Given the description of an element on the screen output the (x, y) to click on. 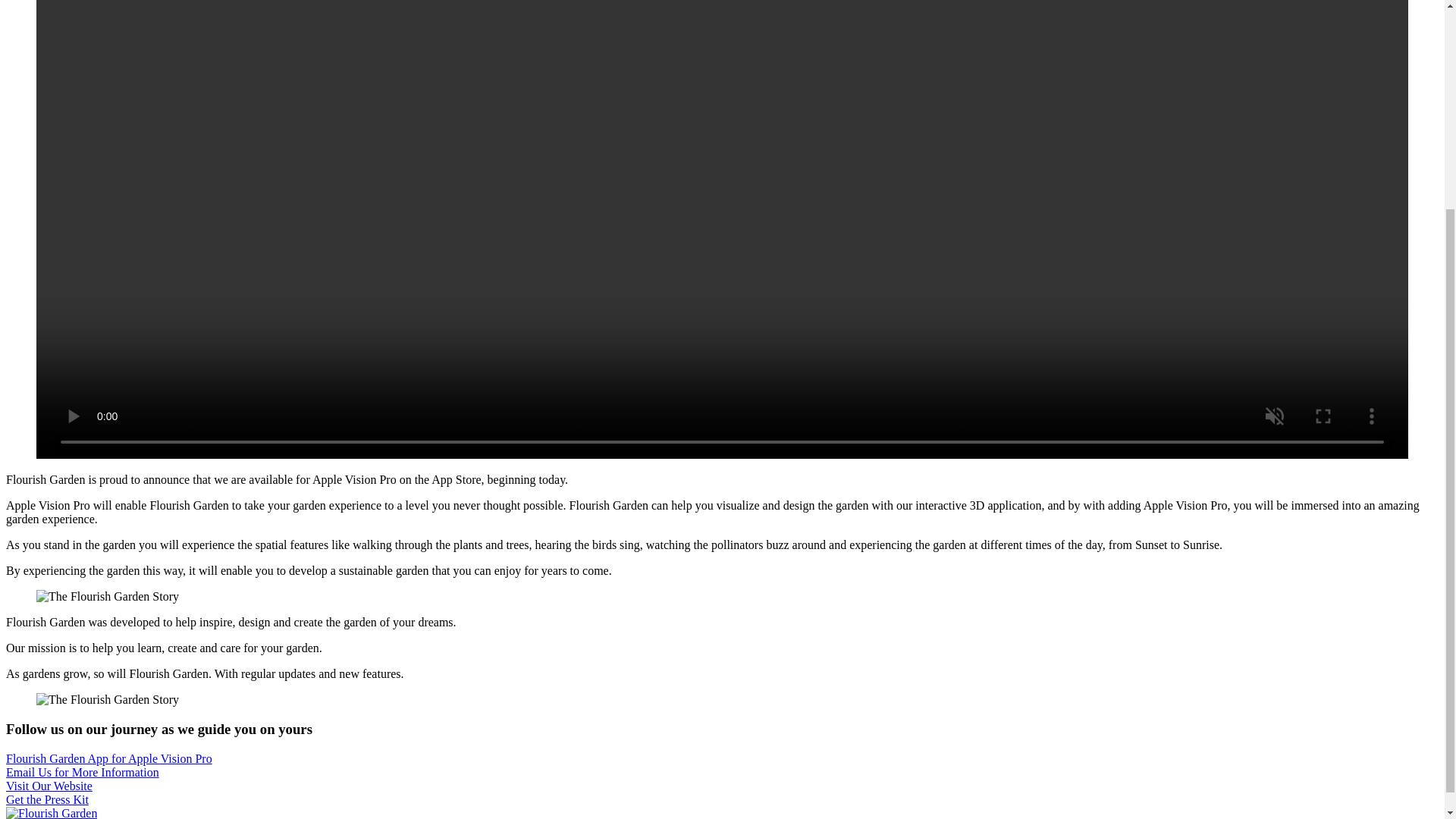
Visit Our Website (49, 785)
Get the Press Kit (46, 799)
Flourish Garden App for Apple Vision Pro (108, 758)
Email Us for More Information (81, 771)
